Given the description of an element on the screen output the (x, y) to click on. 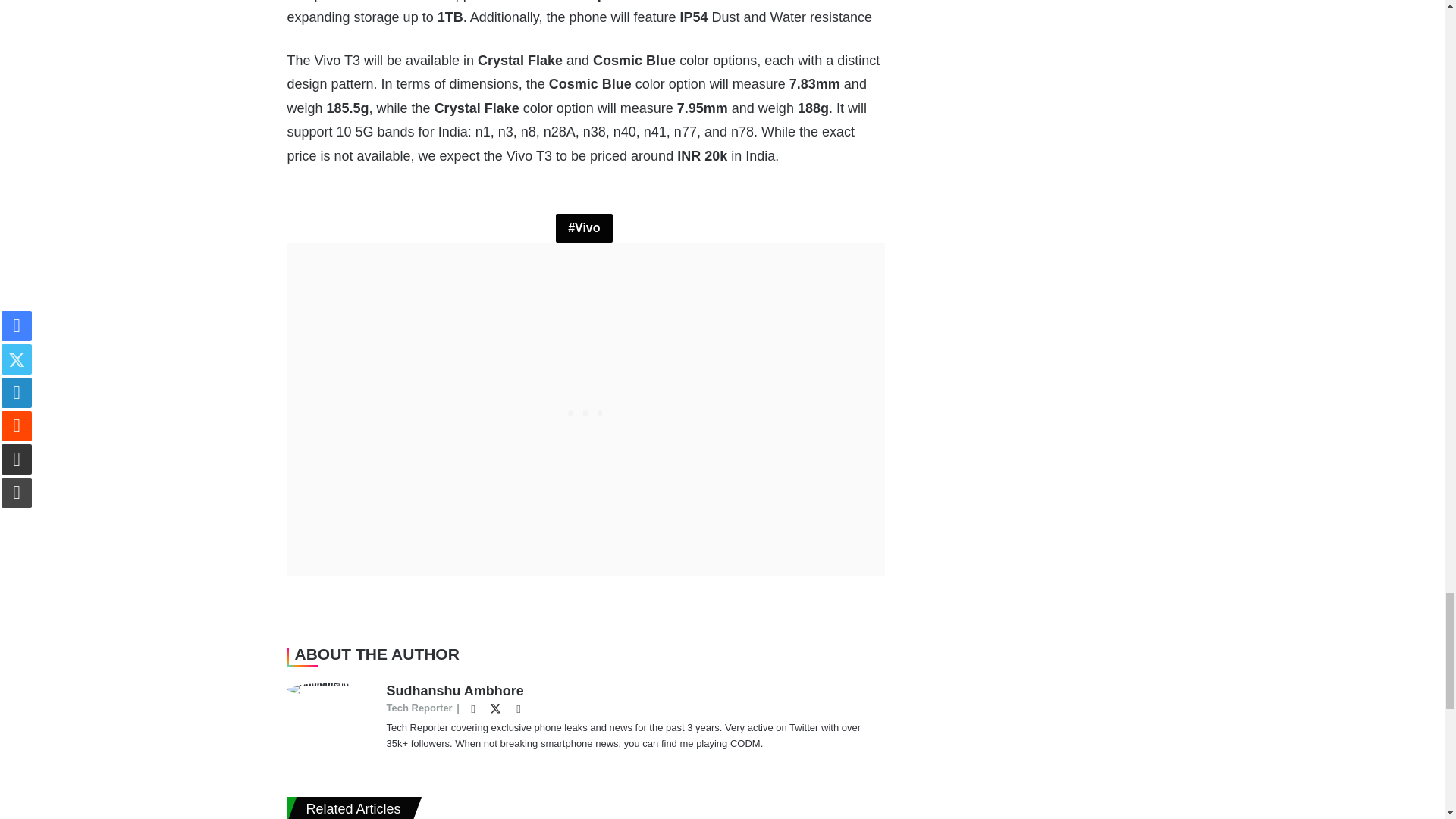
Stereo (564, 0)
